Given the description of an element on the screen output the (x, y) to click on. 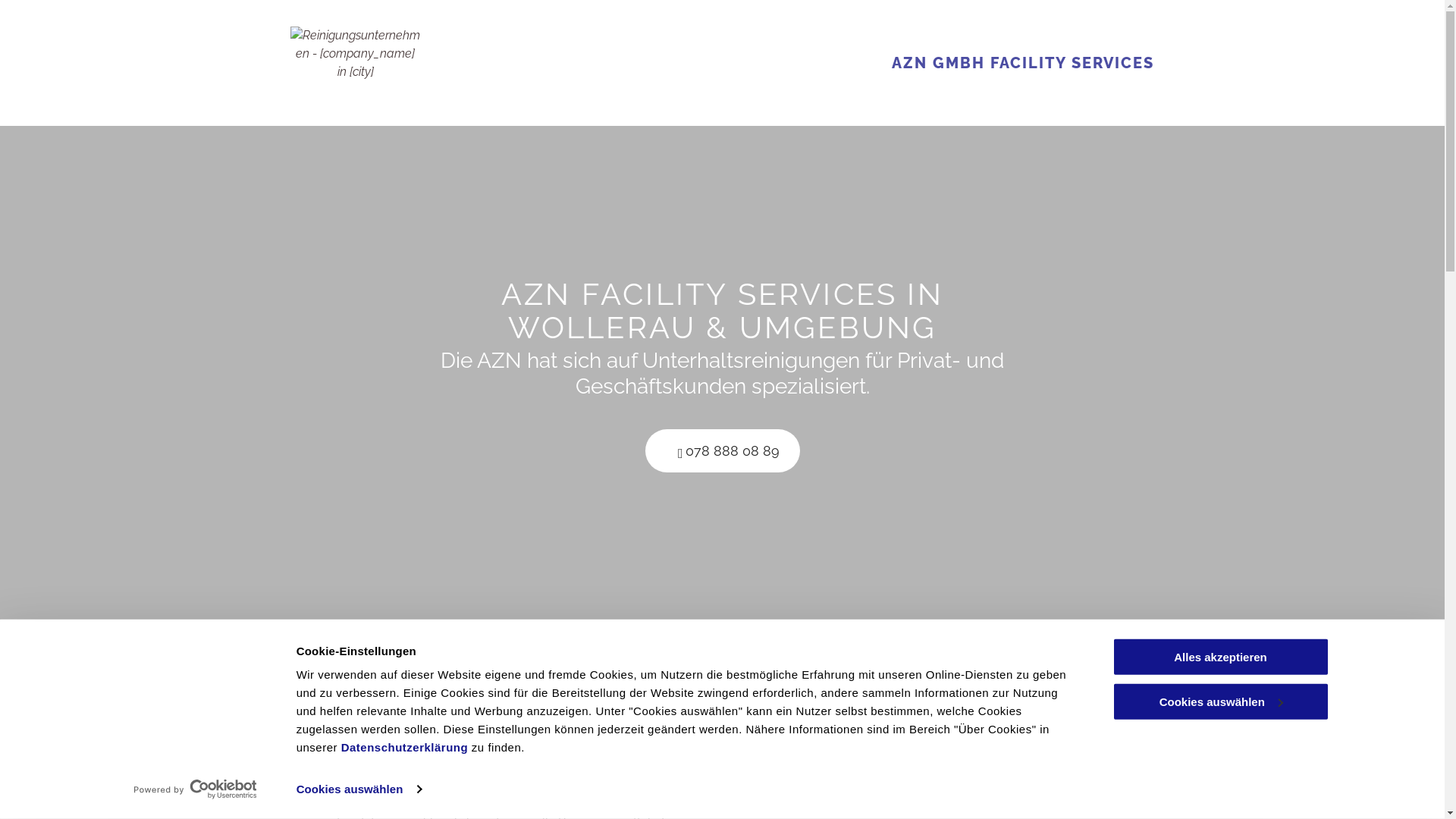
Alles akzeptieren Element type: text (1219, 656)
AZN GMBH FACILITY SERVICES Element type: text (1022, 62)
078 888 08 89 Element type: text (721, 450)
